Given the description of an element on the screen output the (x, y) to click on. 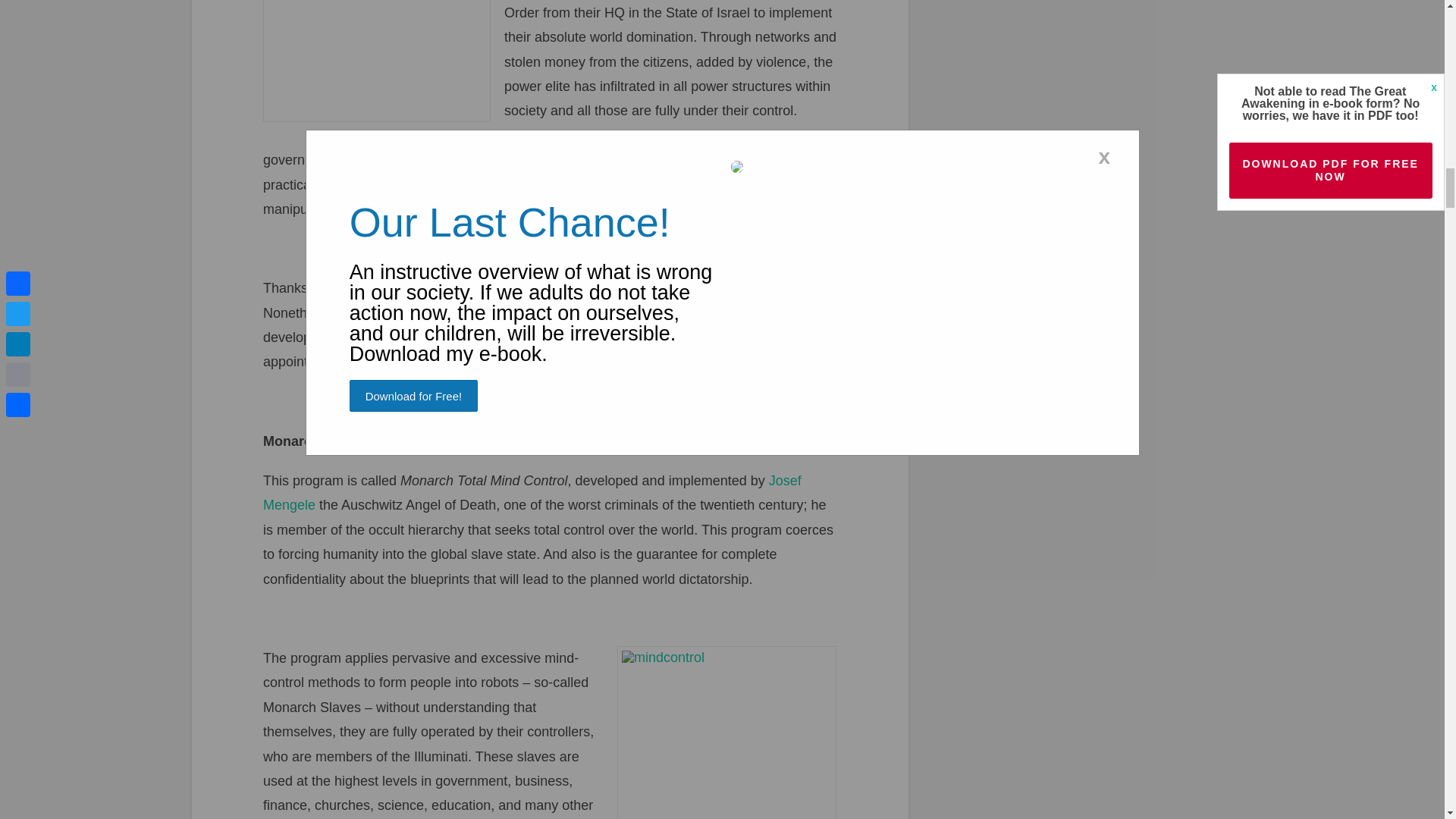
Josef Mengele (532, 492)
